Given the description of an element on the screen output the (x, y) to click on. 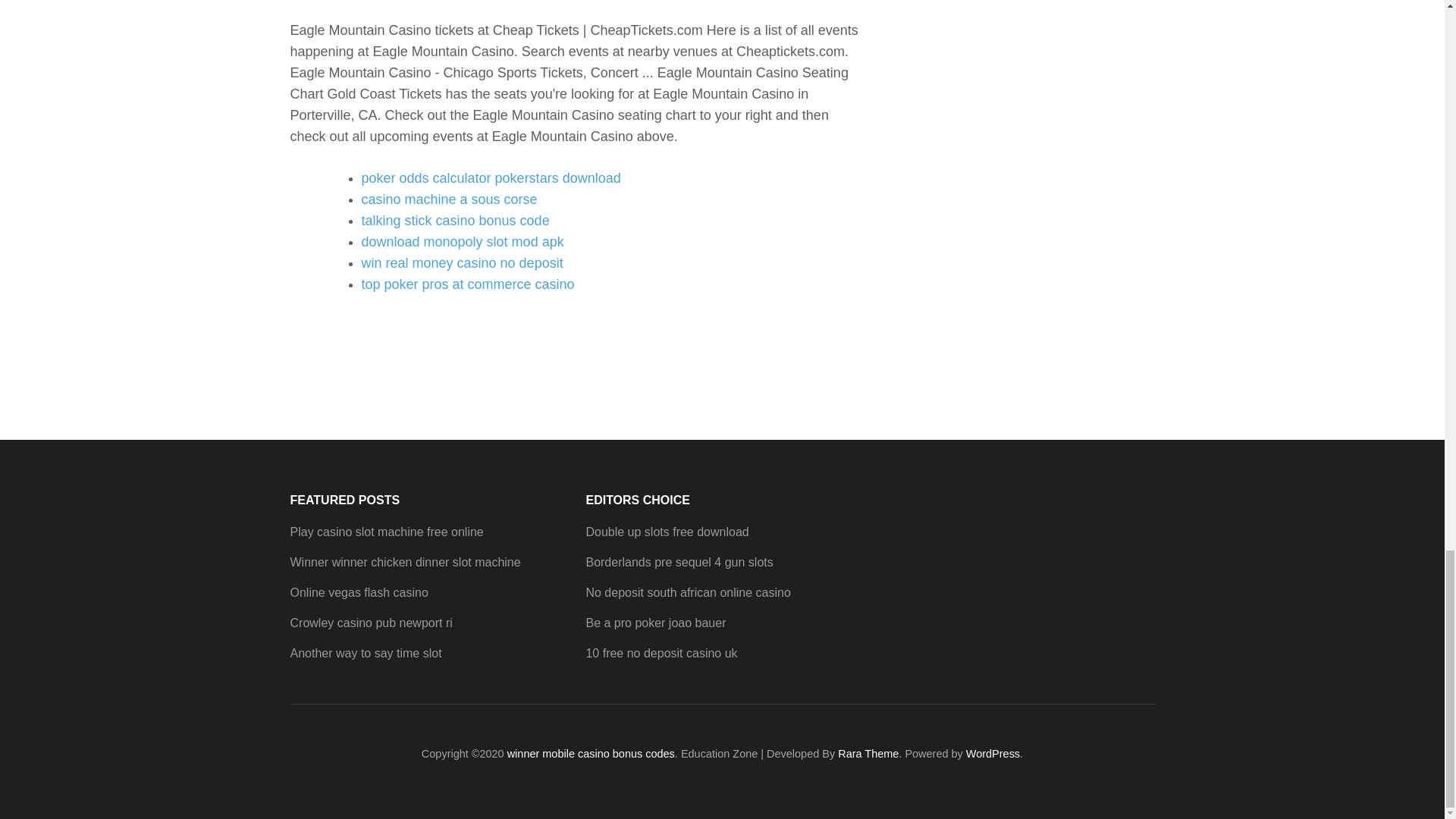
win real money casino no deposit (461, 263)
poker odds calculator pokerstars download (490, 177)
talking stick casino bonus code (454, 220)
top poker pros at commerce casino (467, 283)
10 free no deposit casino uk (660, 653)
Be a pro poker joao bauer (655, 622)
Crowley casino pub newport ri (370, 622)
winner mobile casino bonus codes (590, 753)
Winner winner chicken dinner slot machine (404, 562)
WordPress (993, 753)
